Given the description of an element on the screen output the (x, y) to click on. 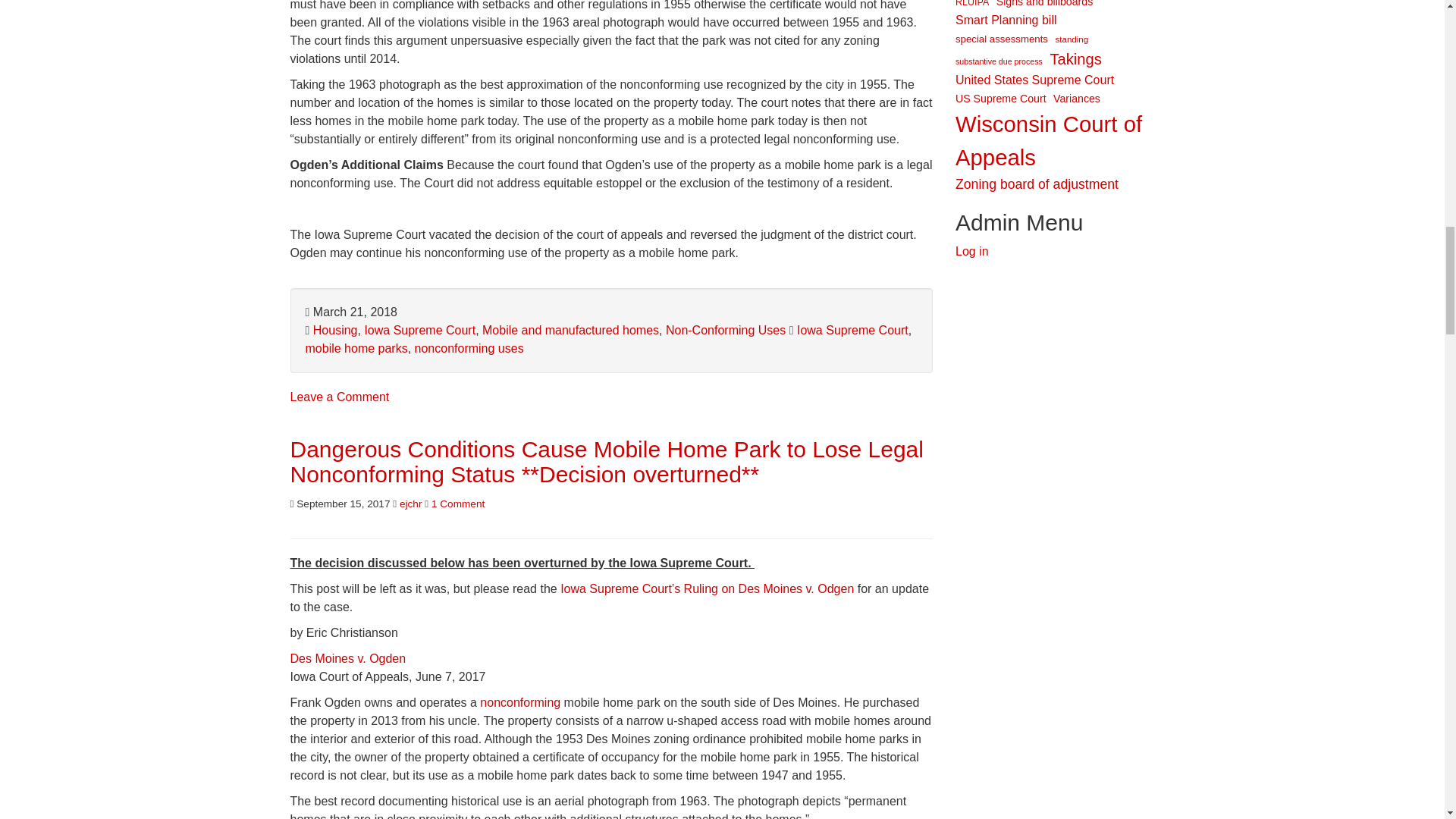
Page 11 (611, 33)
Posted On (339, 503)
Last Updated (350, 311)
